Given the description of an element on the screen output the (x, y) to click on. 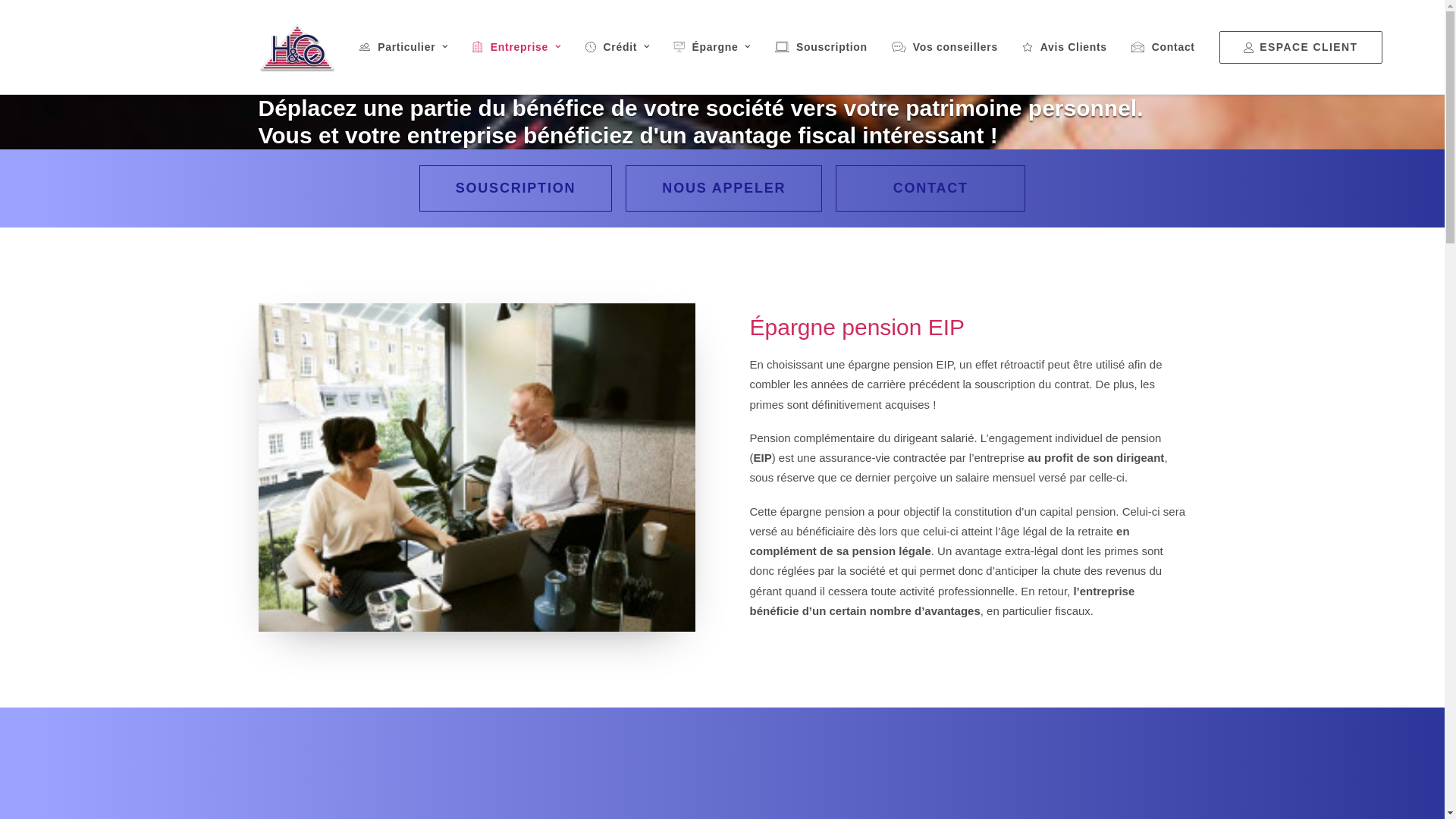
NOUS APPELER Element type: text (723, 188)
Entreprise Element type: text (516, 47)
Contact Element type: text (1162, 47)
Souscription Element type: text (821, 47)
ESPACE CLIENT Element type: text (1295, 46)
Particulier Element type: text (408, 47)
SOUSCRIPTION Element type: text (515, 188)
Avis Clients Element type: text (1064, 47)
Vos conseillers Element type: text (944, 47)
CONTACT Element type: text (930, 188)
